Given the description of an element on the screen output the (x, y) to click on. 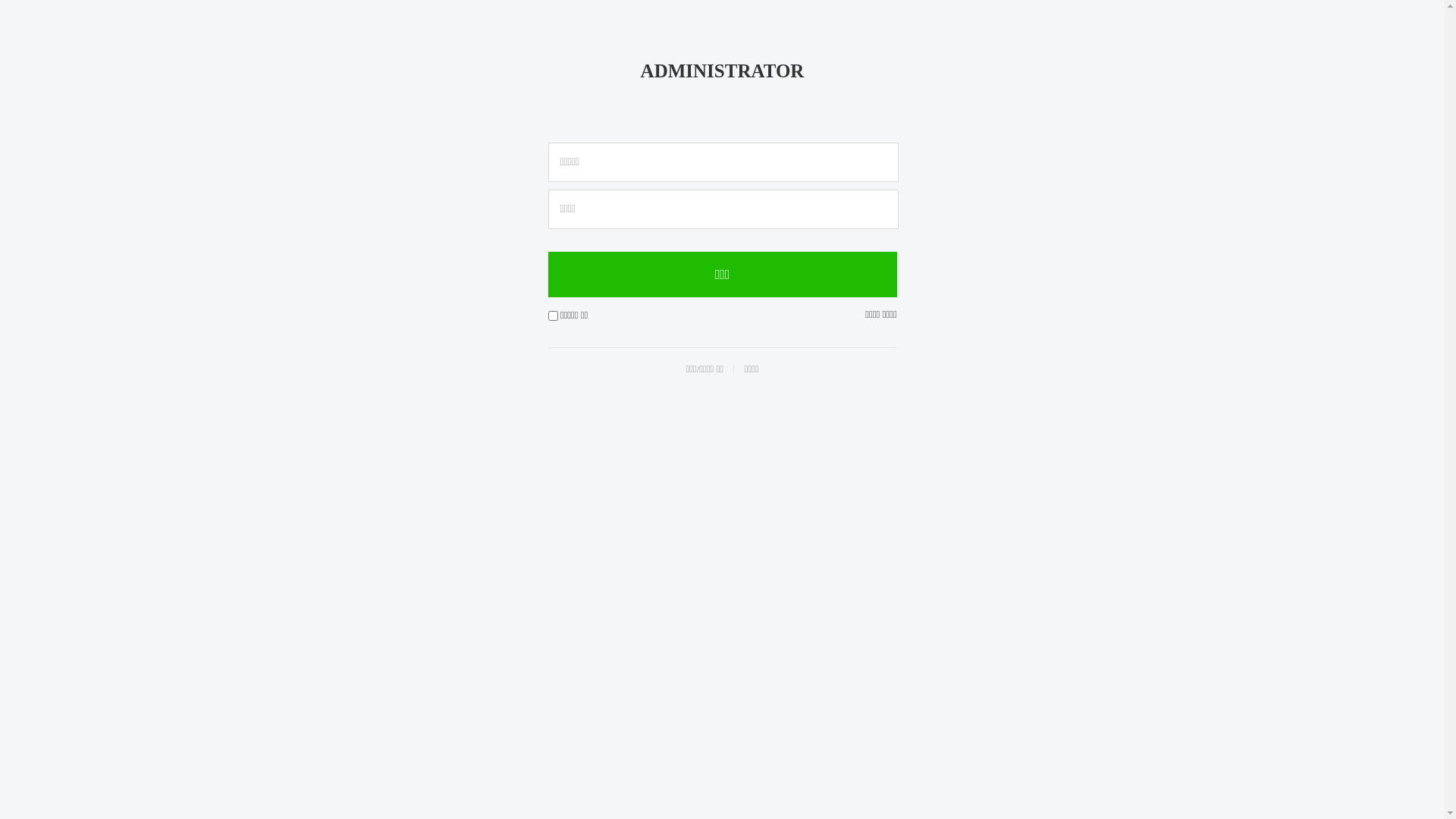
ADMINISTRATOR Element type: text (722, 70)
